Given the description of an element on the screen output the (x, y) to click on. 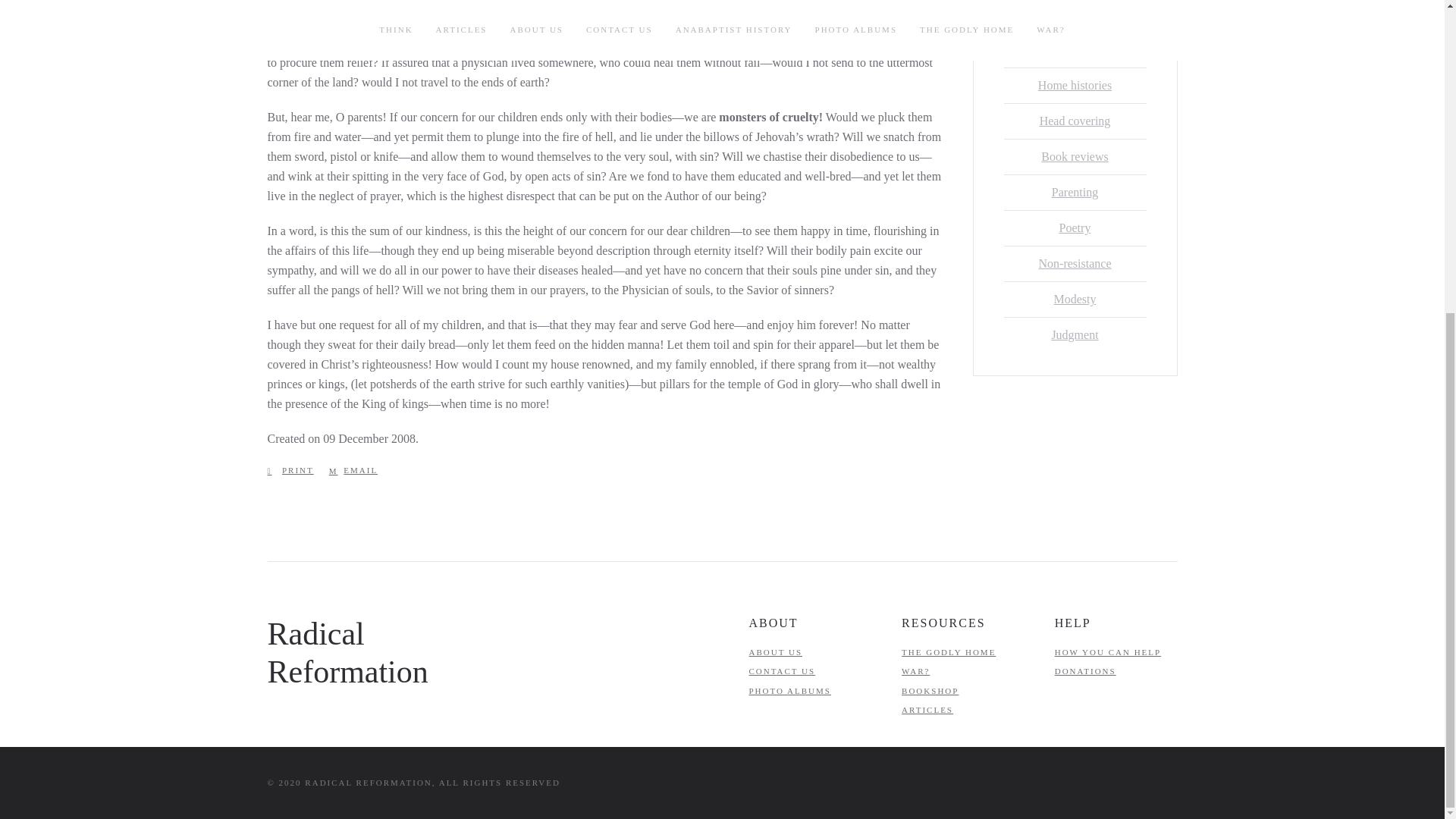
Home histories (1075, 84)
Non-resistance (1075, 263)
DONATIONS (1085, 670)
BOOKSHOP (929, 690)
Modesty (1075, 298)
PHOTO ALBUMS (790, 690)
THE GODLY HOME (948, 651)
ARTICLES (927, 709)
HOW YOU CAN HELP (1107, 651)
Book reviews (1074, 155)
ABOUT US (776, 651)
Poetry (1074, 227)
PRINT (289, 470)
Missions (1074, 13)
EMAIL (353, 470)
